Given the description of an element on the screen output the (x, y) to click on. 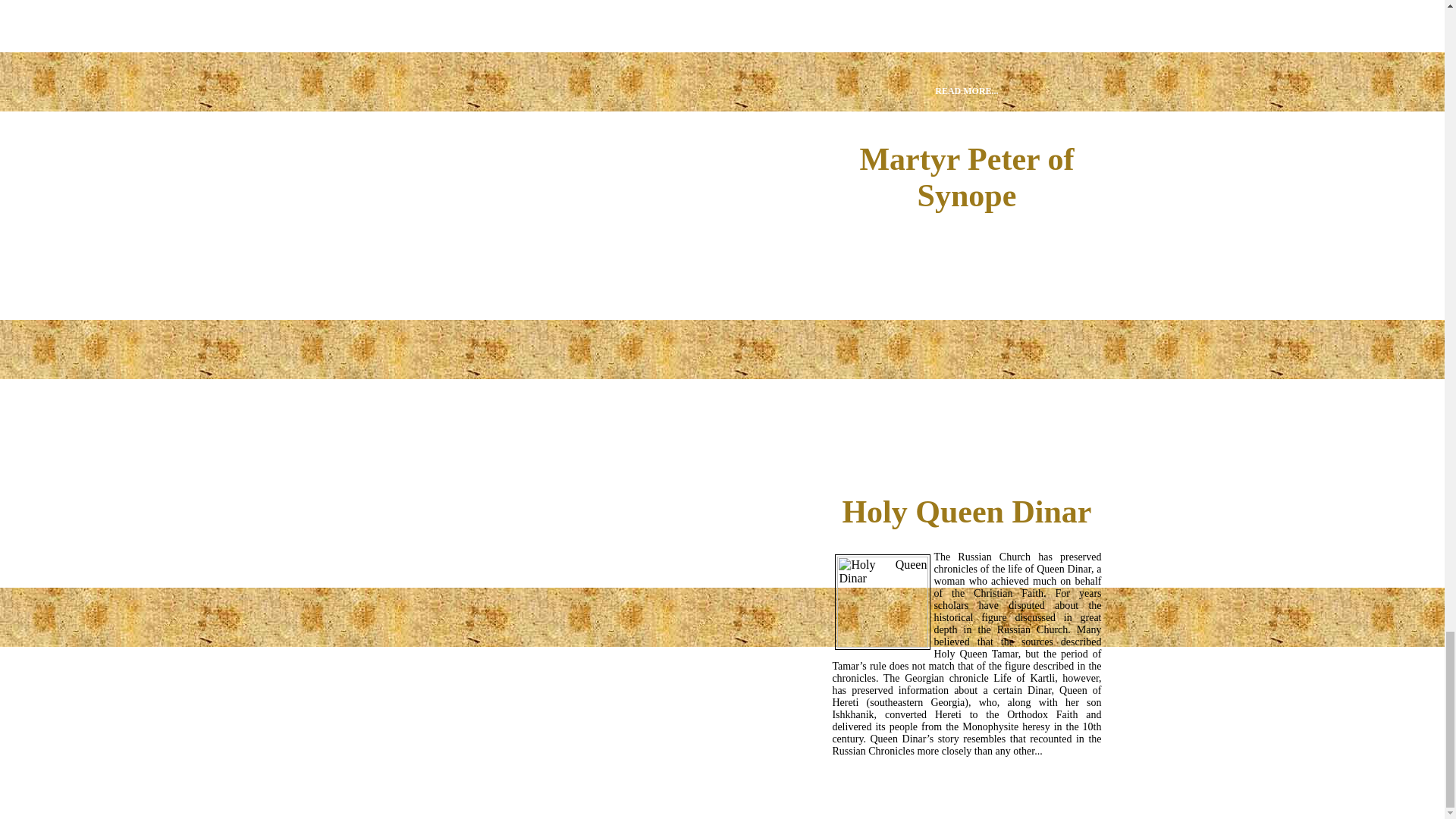
READ MORE... (966, 91)
